Given the description of an element on the screen output the (x, y) to click on. 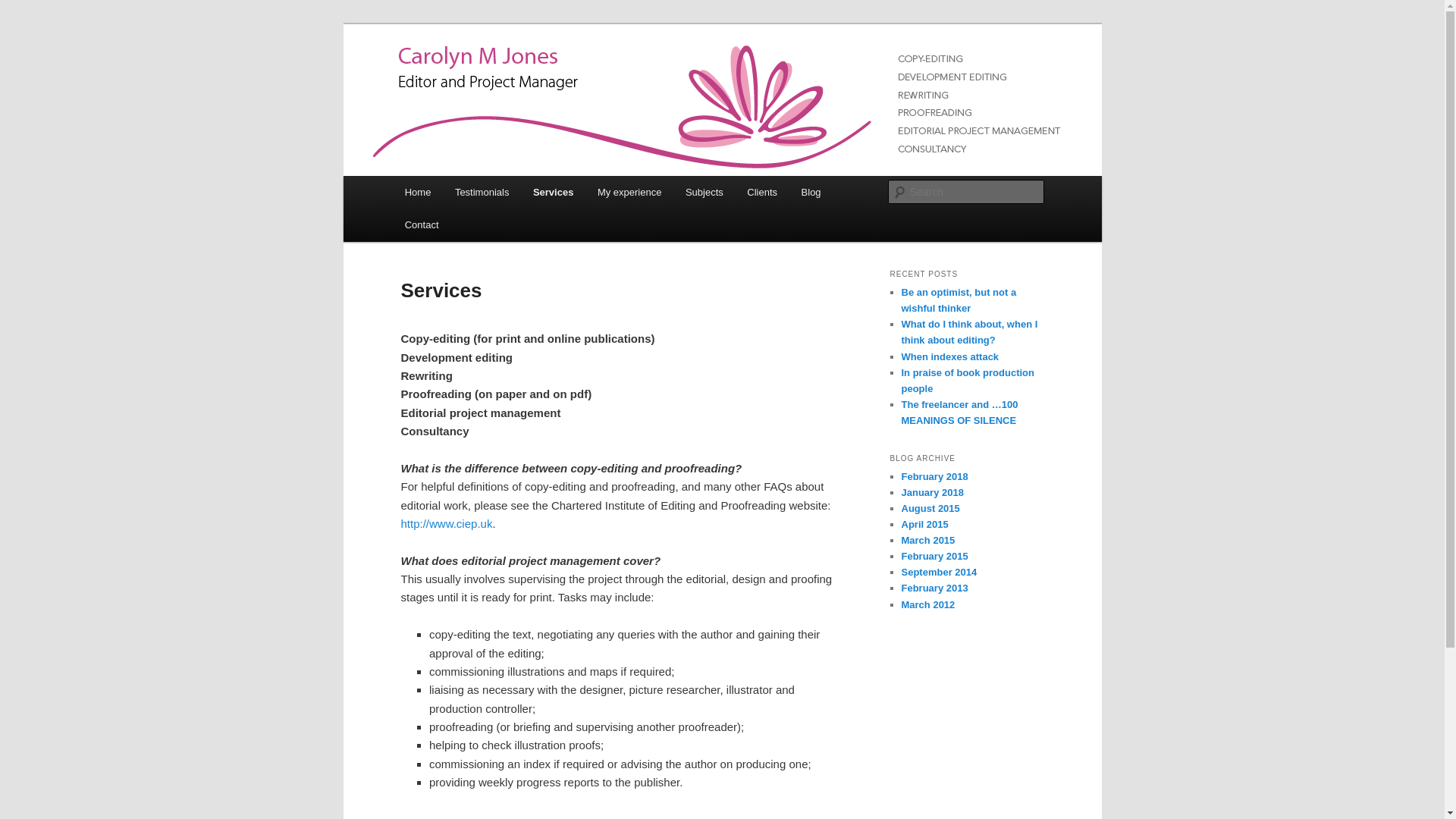
Clients (762, 192)
In praise of book production people (967, 379)
Home (417, 192)
August 2015 (930, 508)
My experience (628, 192)
Contact (421, 224)
February 2018 (934, 476)
January 2018 (931, 491)
March 2012 (928, 604)
Be an optimist, but not a wishful thinker (958, 299)
